Given the description of an element on the screen output the (x, y) to click on. 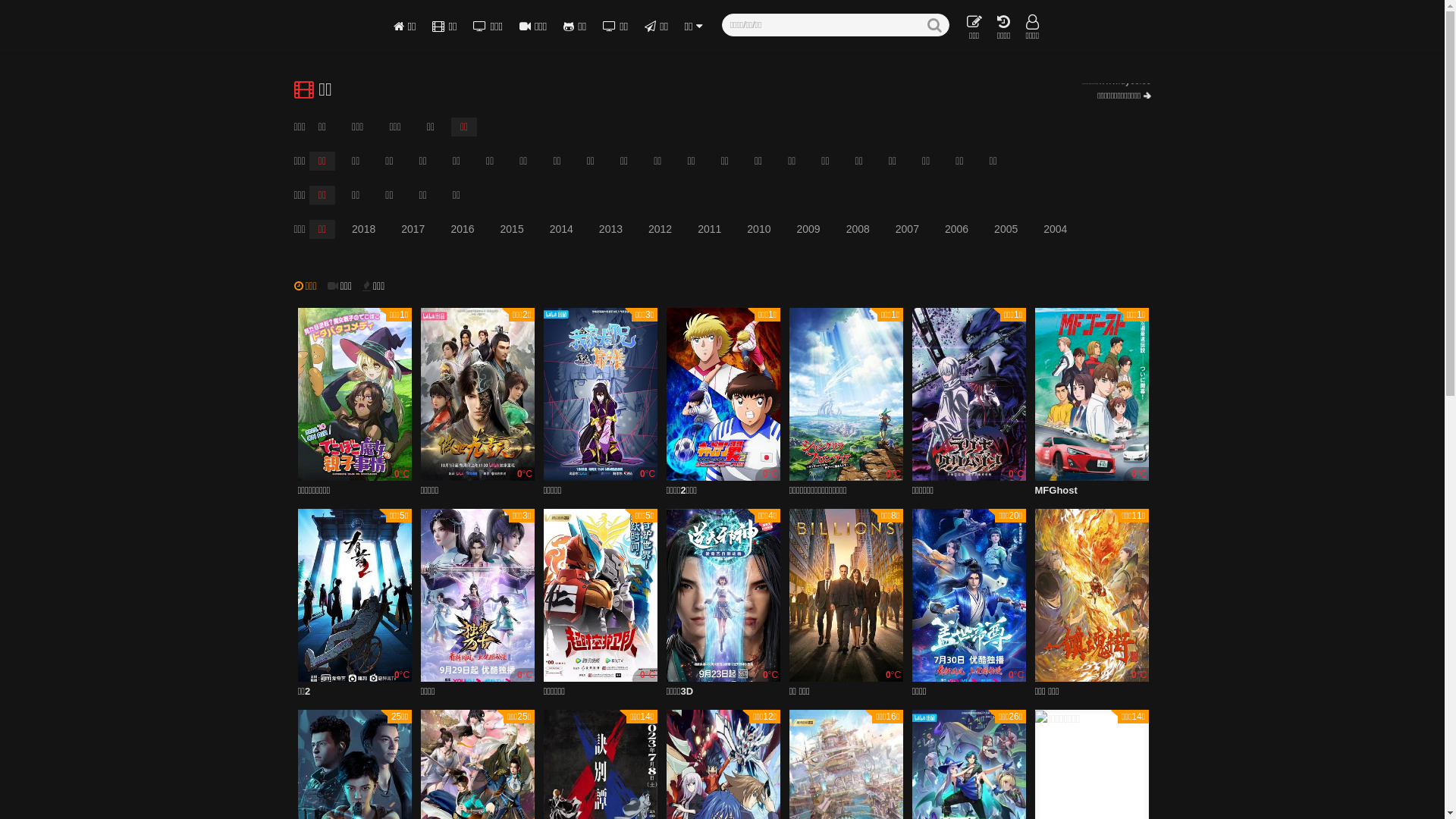
MFGhost Element type: text (1055, 492)
2007 Element type: text (907, 228)
2012 Element type: text (659, 228)
2015 Element type: text (512, 228)
2004 Element type: text (1055, 228)
2009 Element type: text (807, 228)
2010 Element type: text (758, 228)
2013 Element type: text (610, 228)
2008 Element type: text (857, 228)
2017 Element type: text (412, 228)
2005 Element type: text (1005, 228)
2006 Element type: text (956, 228)
2016 Element type: text (462, 228)
2014 Element type: text (561, 228)
2018 Element type: text (363, 228)
2011 Element type: text (709, 228)
